Given the description of an element on the screen output the (x, y) to click on. 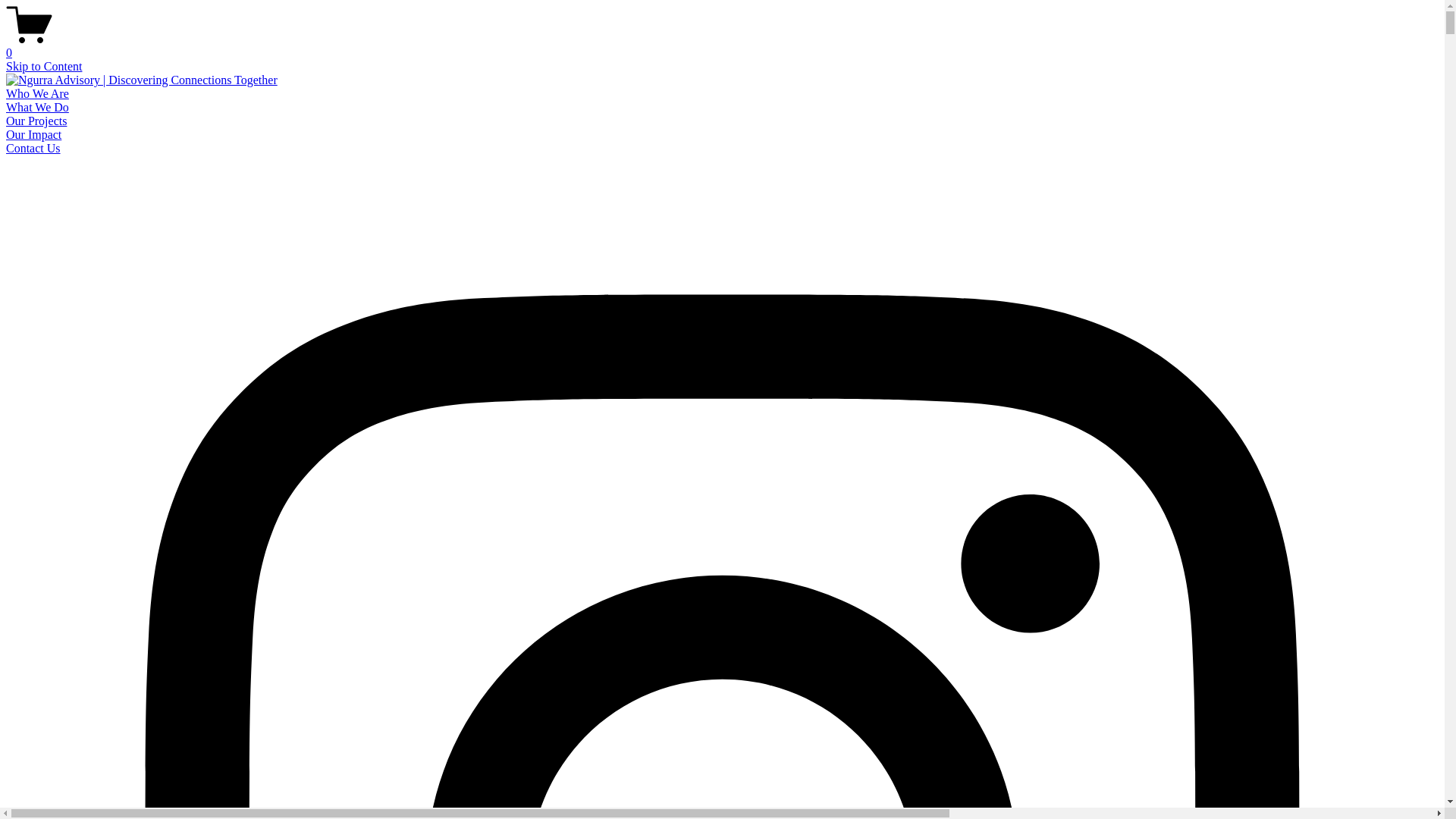
0 Element type: text (722, 45)
Skip to Content Element type: text (43, 65)
Our Projects Element type: text (36, 120)
Who We Are Element type: text (37, 93)
Our Impact Element type: text (33, 134)
Contact Us Element type: text (33, 147)
What We Do Element type: text (37, 106)
